Given the description of an element on the screen output the (x, y) to click on. 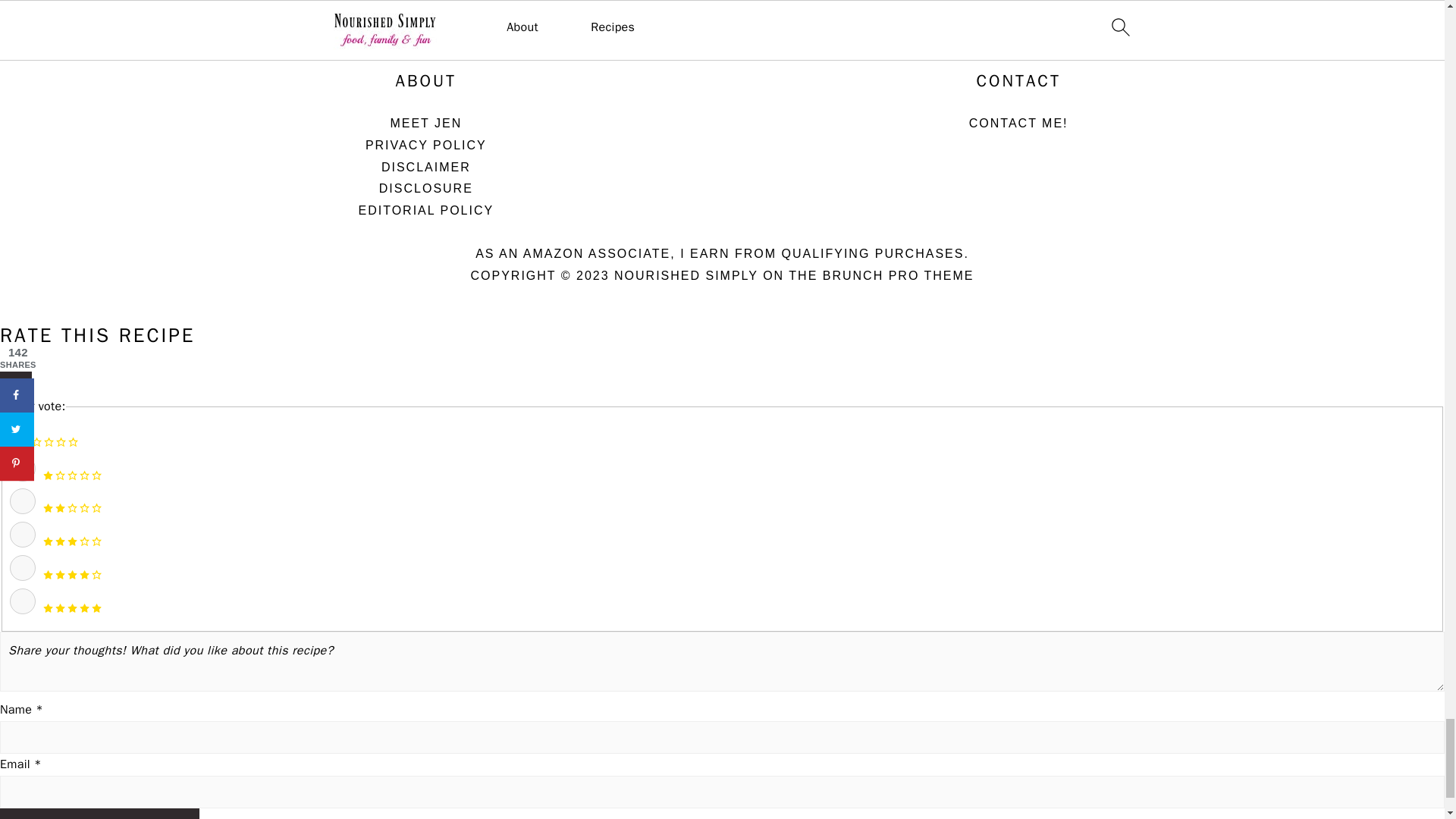
3 (22, 534)
5 (22, 601)
2 (22, 501)
1 (22, 468)
4 (22, 567)
